Given the description of an element on the screen output the (x, y) to click on. 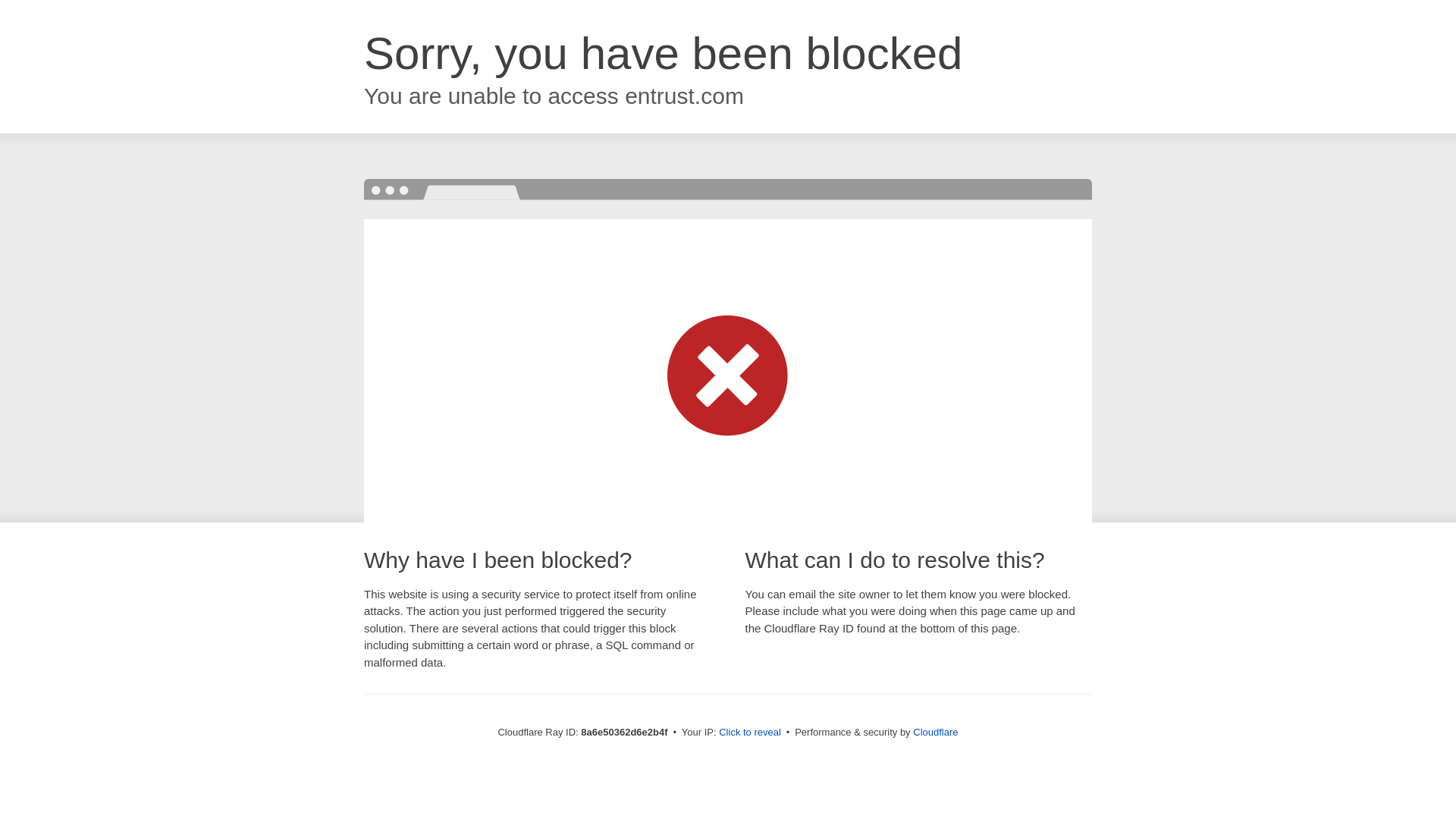
Click to reveal (749, 732)
Cloudflare (935, 731)
